Given the description of an element on the screen output the (x, y) to click on. 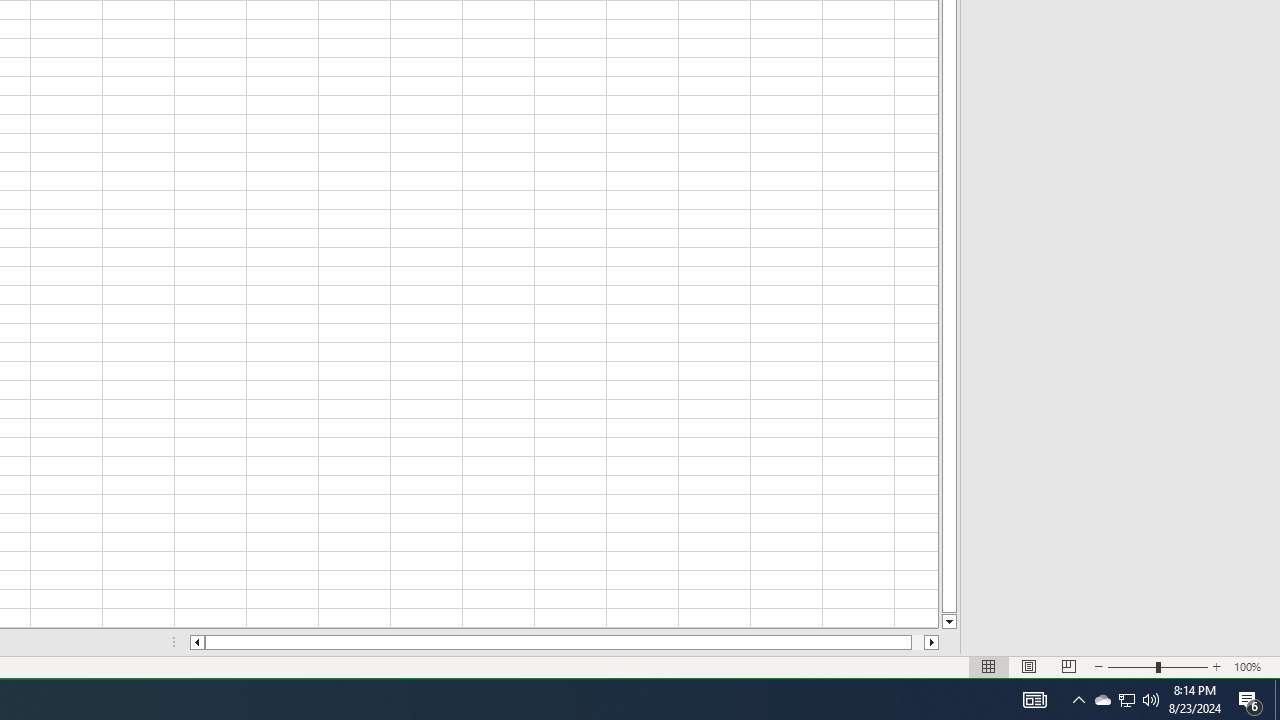
Show desktop (1102, 699)
Q2790: 100% (1277, 699)
